Given the description of an element on the screen output the (x, y) to click on. 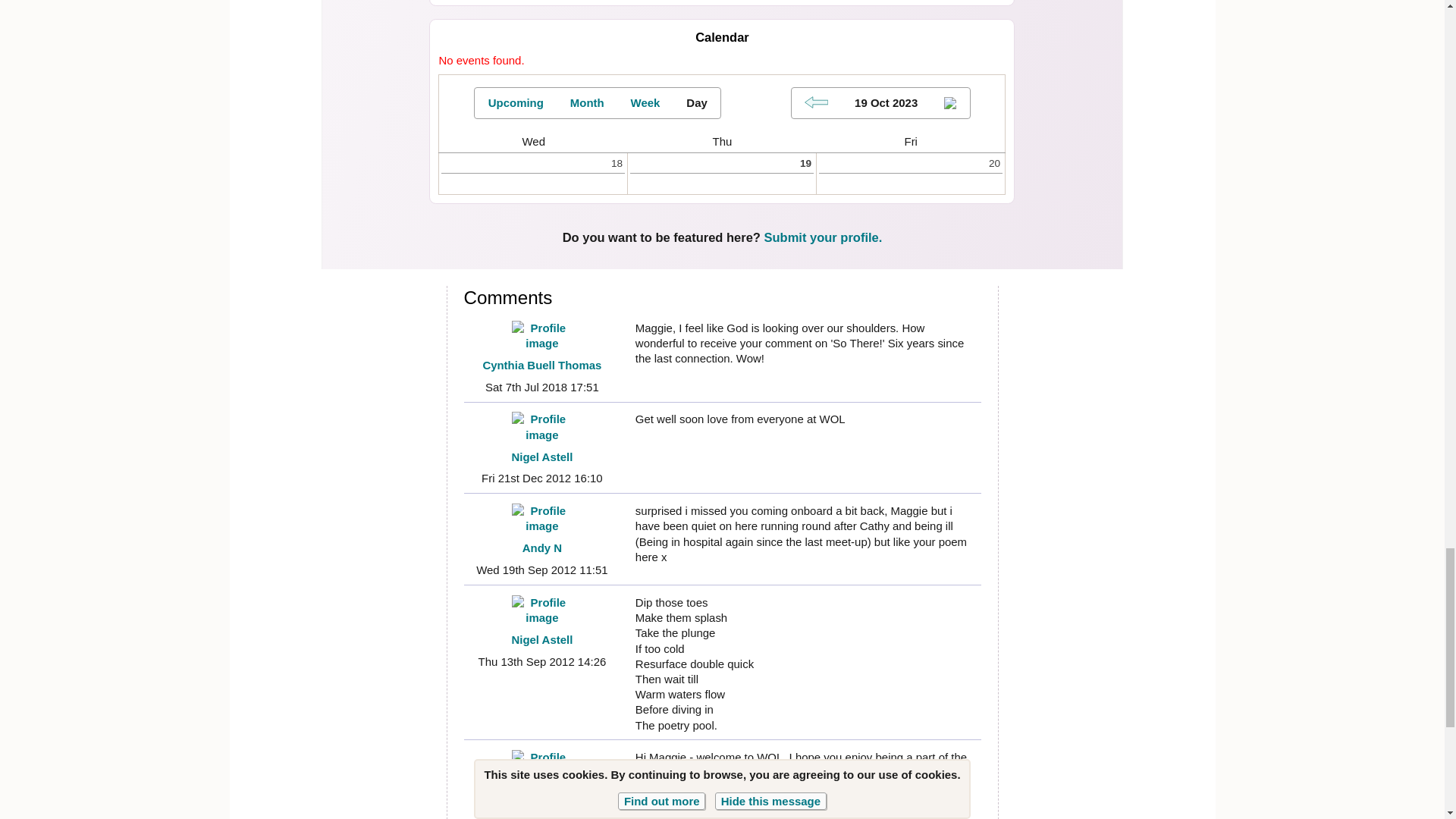
Week (645, 102)
Upcoming (515, 102)
Month (587, 102)
